Given the description of an element on the screen output the (x, y) to click on. 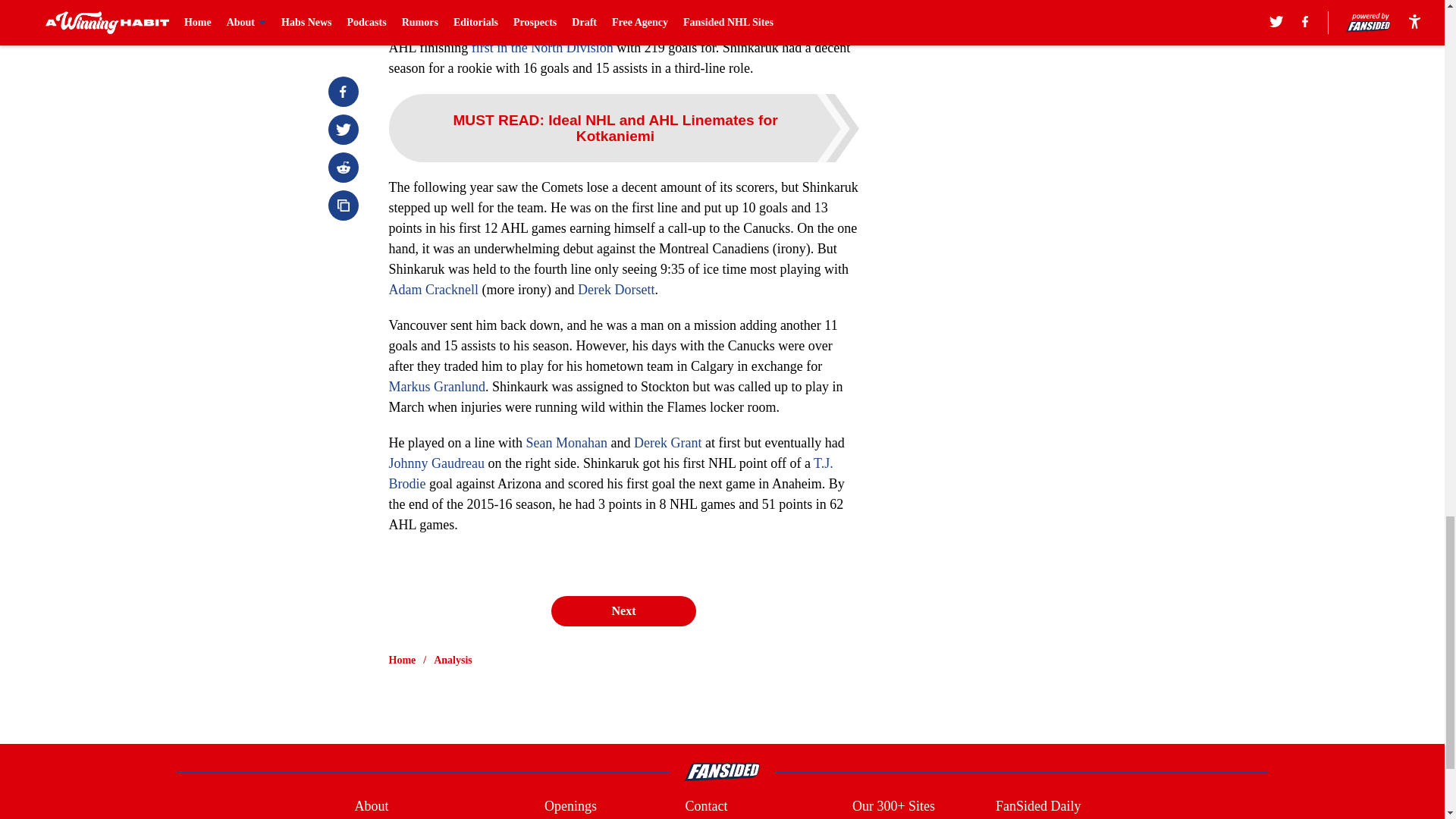
Johnny Gaudreau (435, 462)
Analysis (452, 660)
Sean Monahan (566, 442)
About (370, 806)
Adam Cracknell (432, 289)
Derek Grant (667, 442)
Markus Granlund (436, 386)
Derek Dorsett (615, 289)
MUST READ: Ideal NHL and AHL Linemates for Kotkaniemi (623, 128)
T.J. Brodie (610, 473)
